Given the description of an element on the screen output the (x, y) to click on. 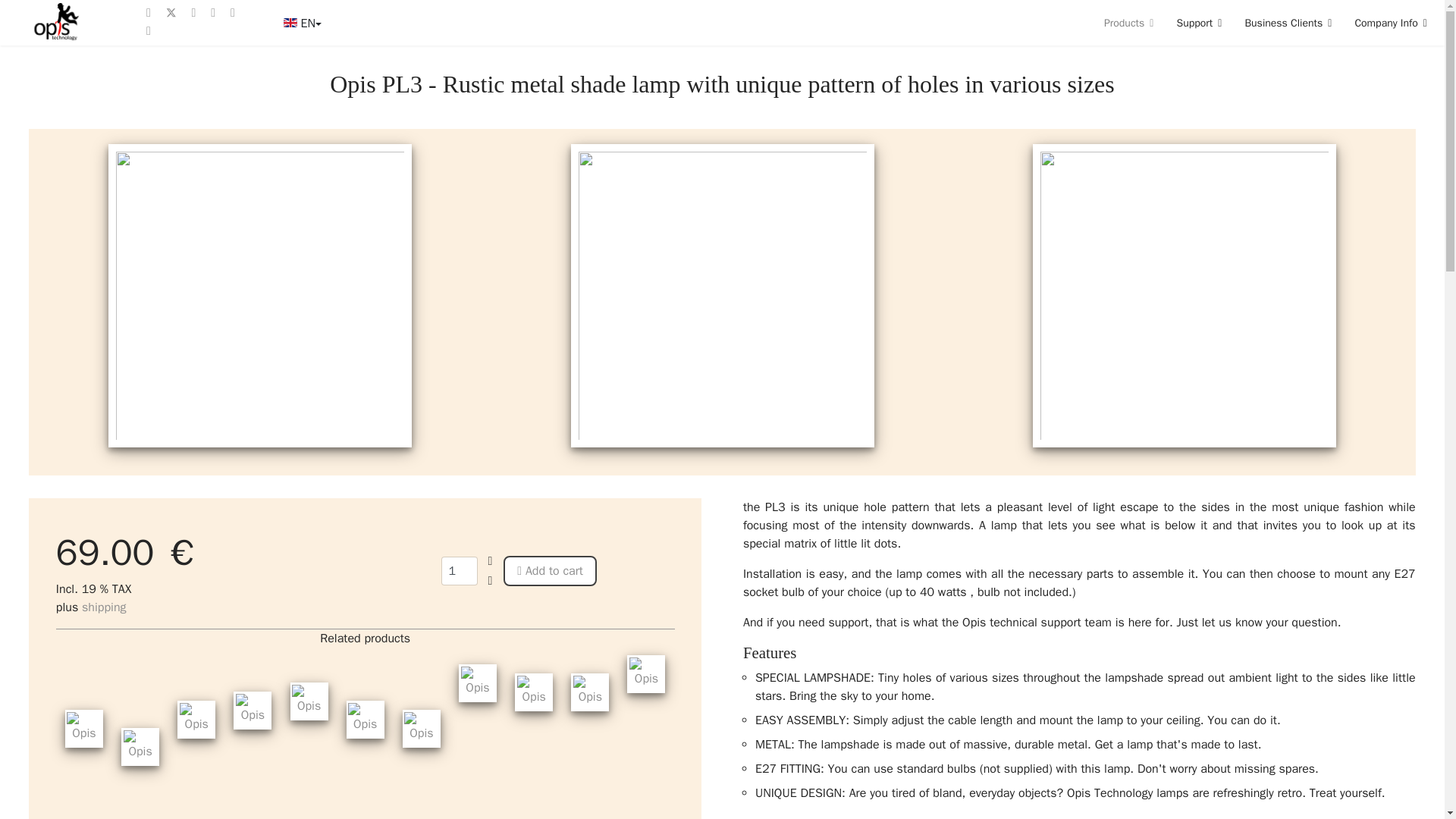
Go to cart (1417, 56)
Opis PL1 Industrial Pendant Lamp made of Metal (139, 746)
Opis PL2b - Brown wood pendant lamp in retro cylinder shape (422, 728)
Opis TL1 Vintage Table Lamp made from Wood and Metal (84, 728)
1 (459, 570)
Company Info (1384, 22)
Support (1198, 22)
Business Clients (1287, 22)
  EN (300, 23)
